Given the description of an element on the screen output the (x, y) to click on. 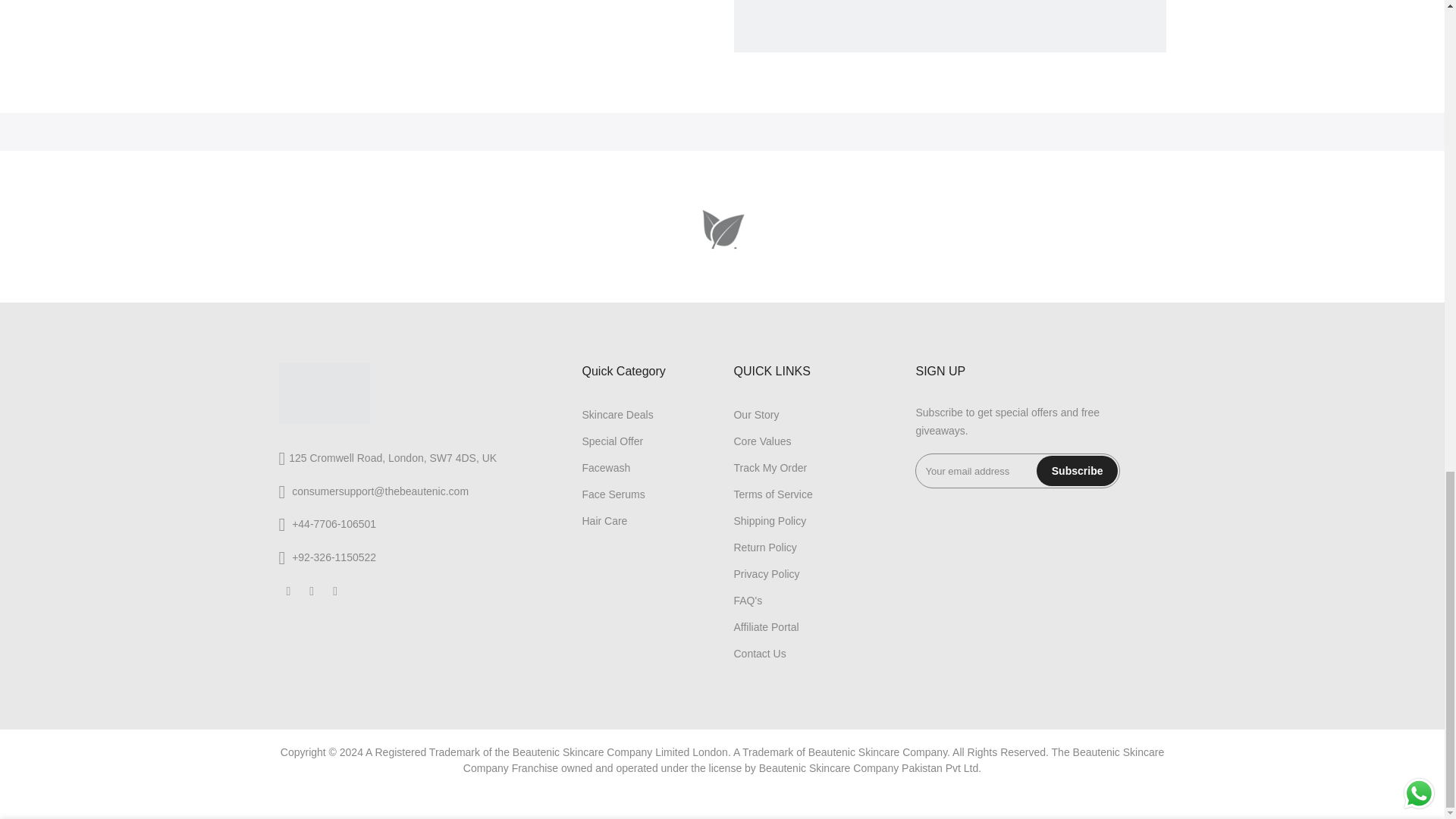
Track My Order (769, 467)
Skincare Deals (616, 414)
Face Serums (612, 494)
Core Values (761, 440)
Special Offer (611, 440)
Hair Care (603, 521)
Our Story (755, 414)
Facewash (605, 467)
